Given the description of an element on the screen output the (x, y) to click on. 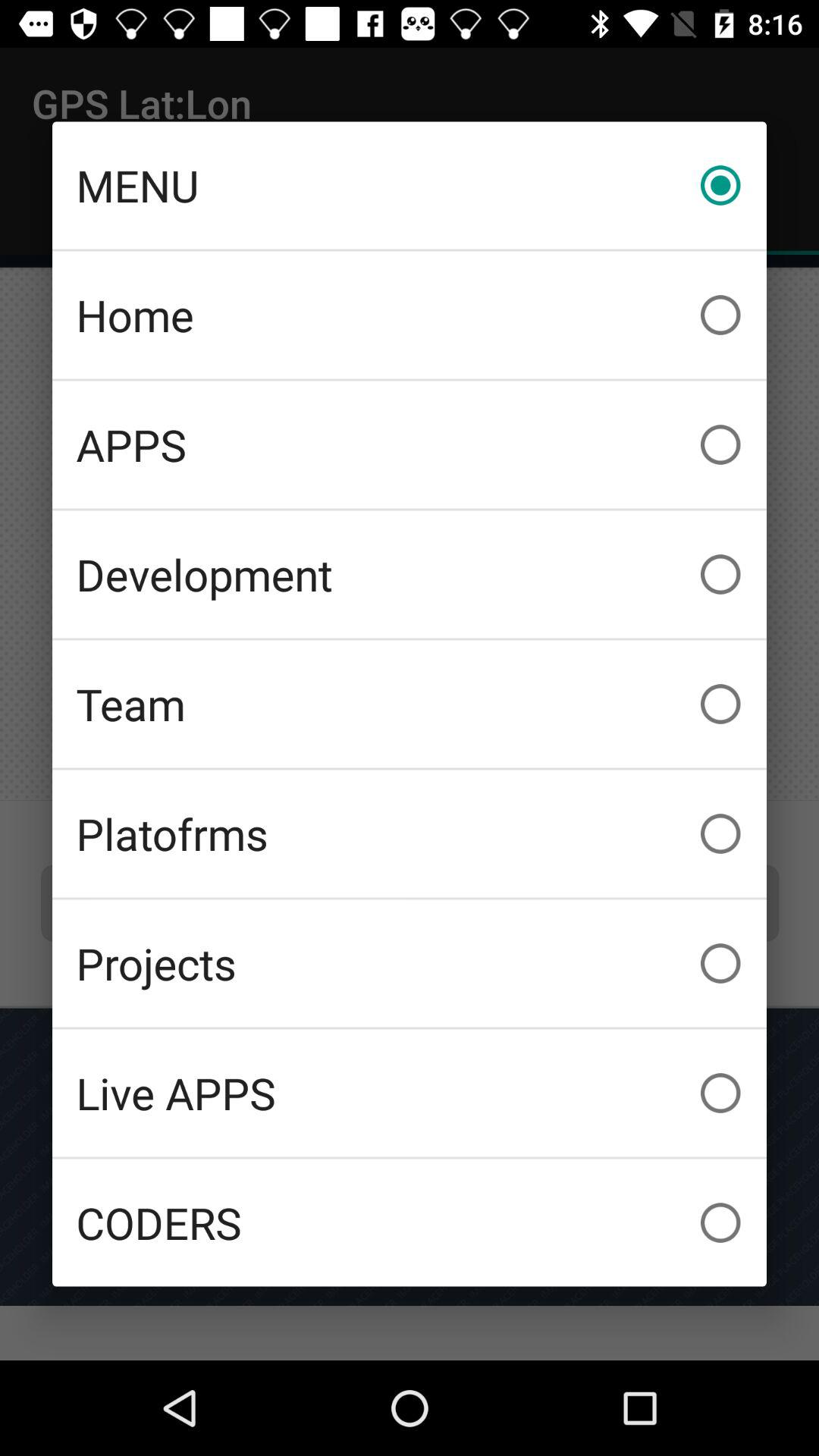
jump to menu (409, 185)
